Given the description of an element on the screen output the (x, y) to click on. 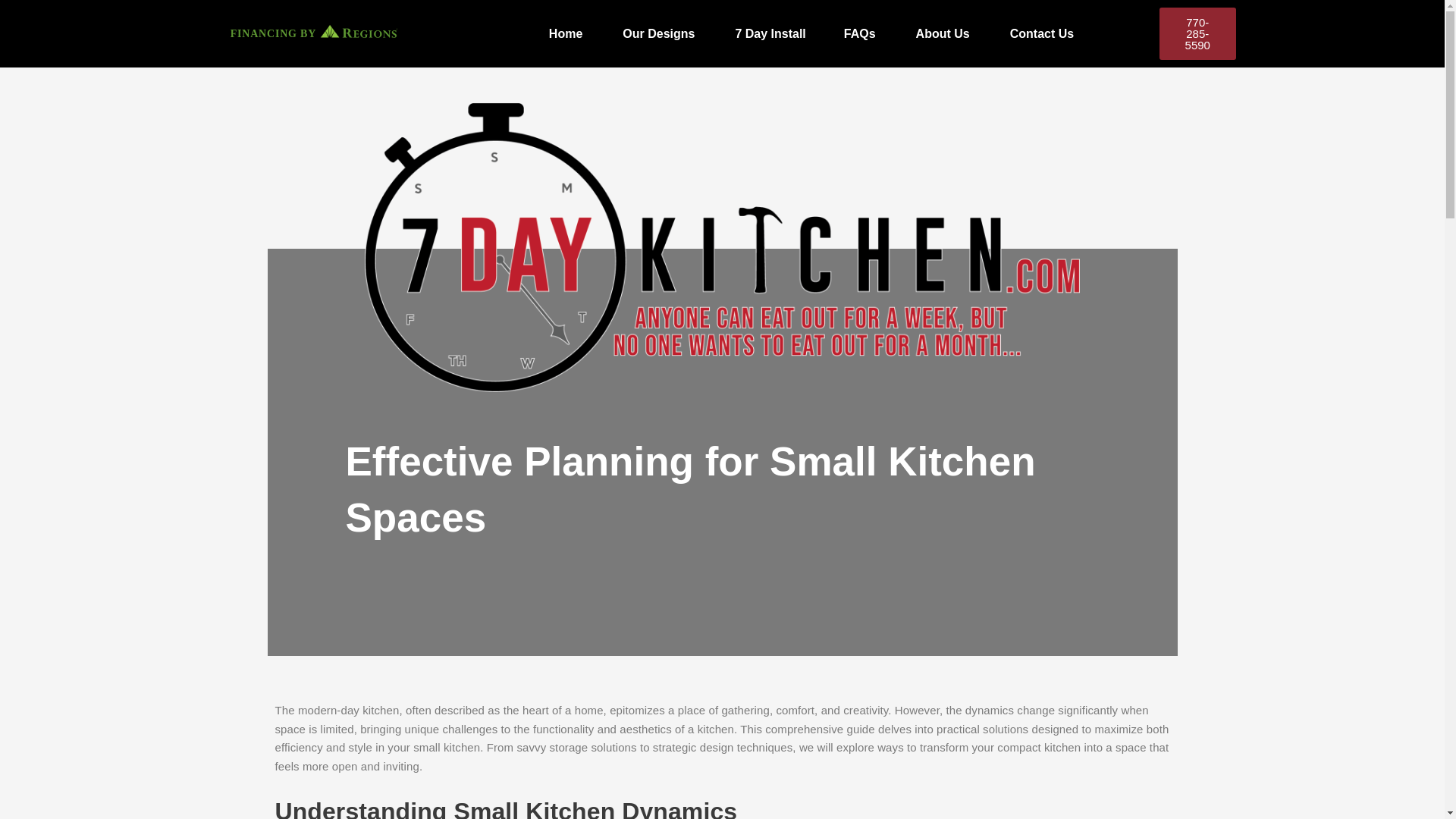
770-285-5590 (1197, 33)
FAQs (859, 33)
Home (565, 33)
7 Day Install (769, 33)
Our Designs (658, 33)
About Us (942, 33)
Contact Us (1041, 33)
